Given the description of an element on the screen output the (x, y) to click on. 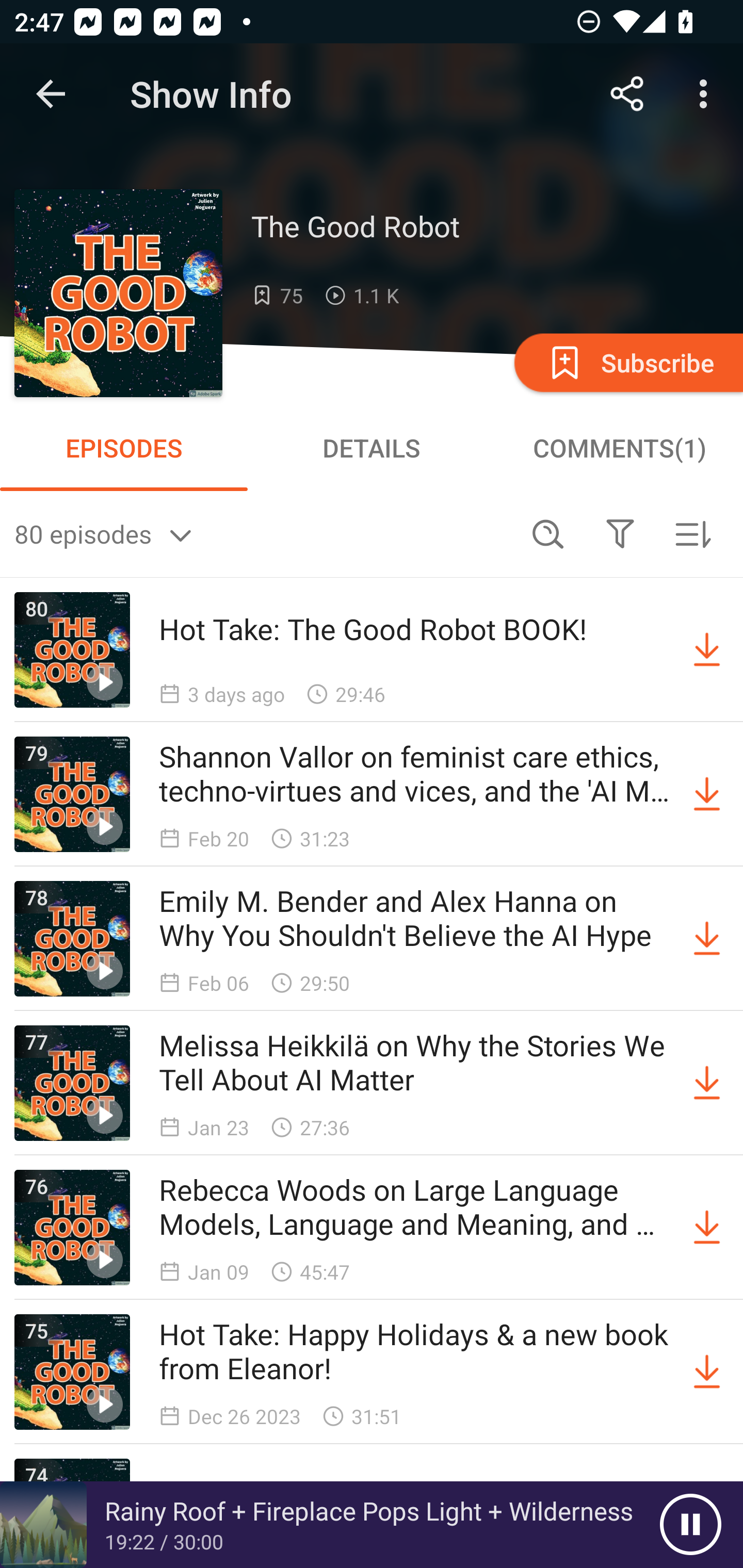
Navigate up (50, 93)
Share (626, 93)
More options (706, 93)
Subscribe (627, 361)
EPISODES (123, 447)
DETAILS (371, 447)
COMMENTS(1) (619, 447)
80 episodes  (262, 533)
 Search (547, 533)
 (619, 533)
 Sorted by newest first (692, 533)
Download (706, 649)
Download (706, 793)
Download (706, 939)
Download (706, 1083)
Download (706, 1227)
Download (706, 1371)
Pause (690, 1524)
